Given the description of an element on the screen output the (x, y) to click on. 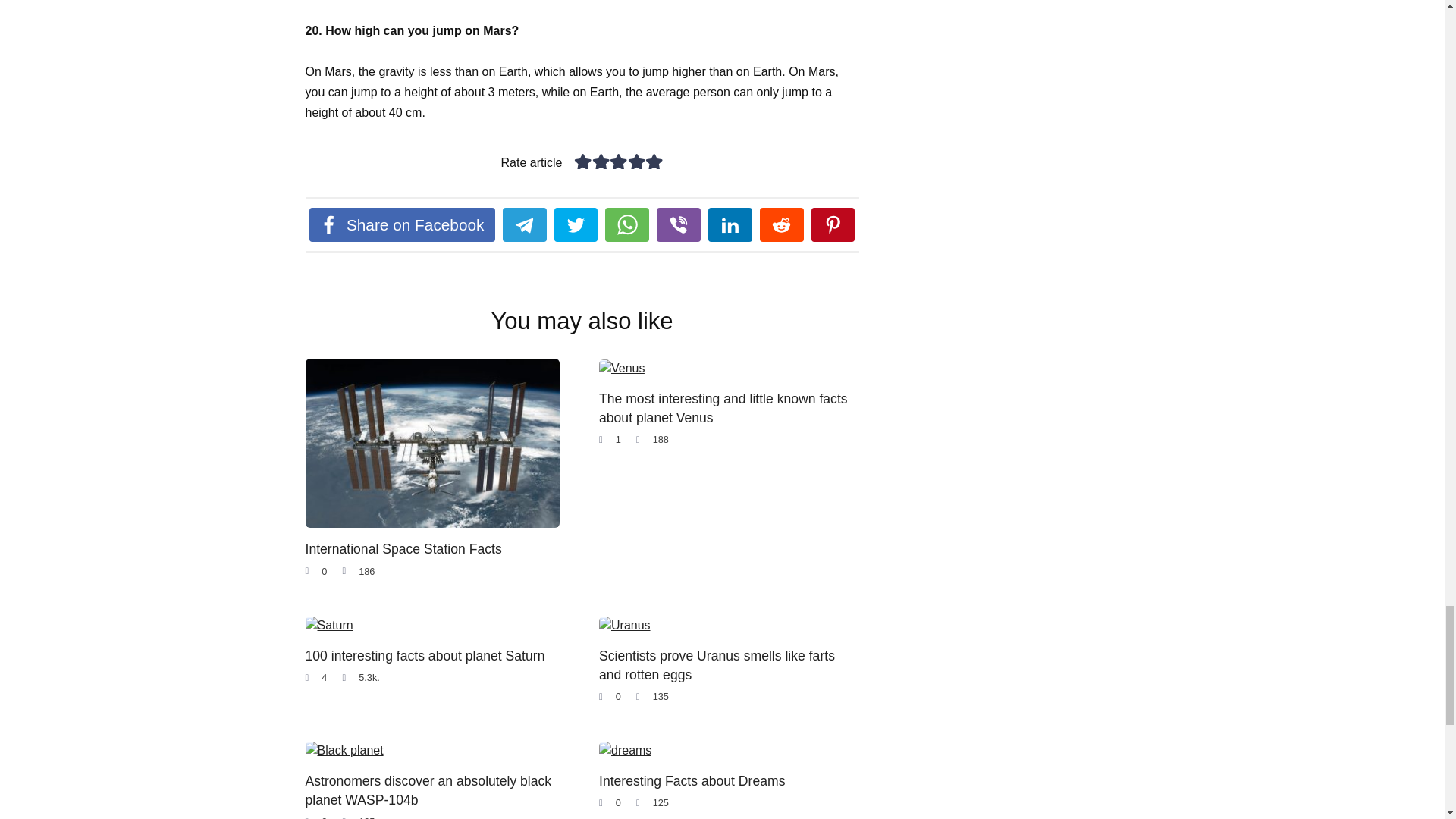
Astronomers discover an absolutely black planet WASP-104b (427, 790)
International Space Station Facts (402, 548)
Scientists prove Uranus smells like farts and rotten eggs (716, 665)
100 interesting facts about planet Saturn (424, 656)
